Given the description of an element on the screen output the (x, y) to click on. 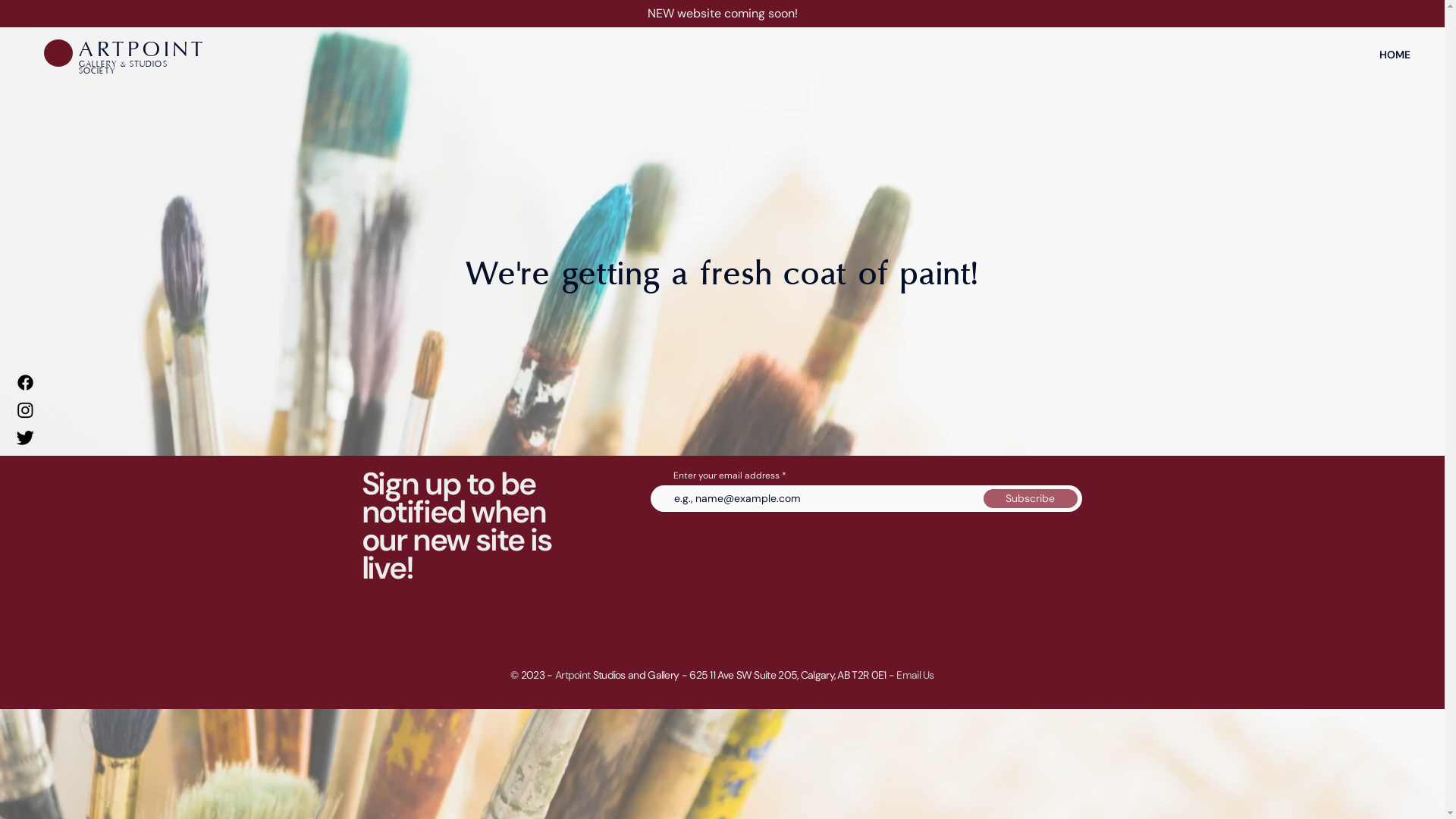
Subscribe Element type: text (1029, 498)
Email Us Element type: text (914, 674)
HOME Element type: text (1394, 54)
ARTPOINT Element type: text (142, 49)
Artpoint Element type: text (572, 674)
